Given the description of an element on the screen output the (x, y) to click on. 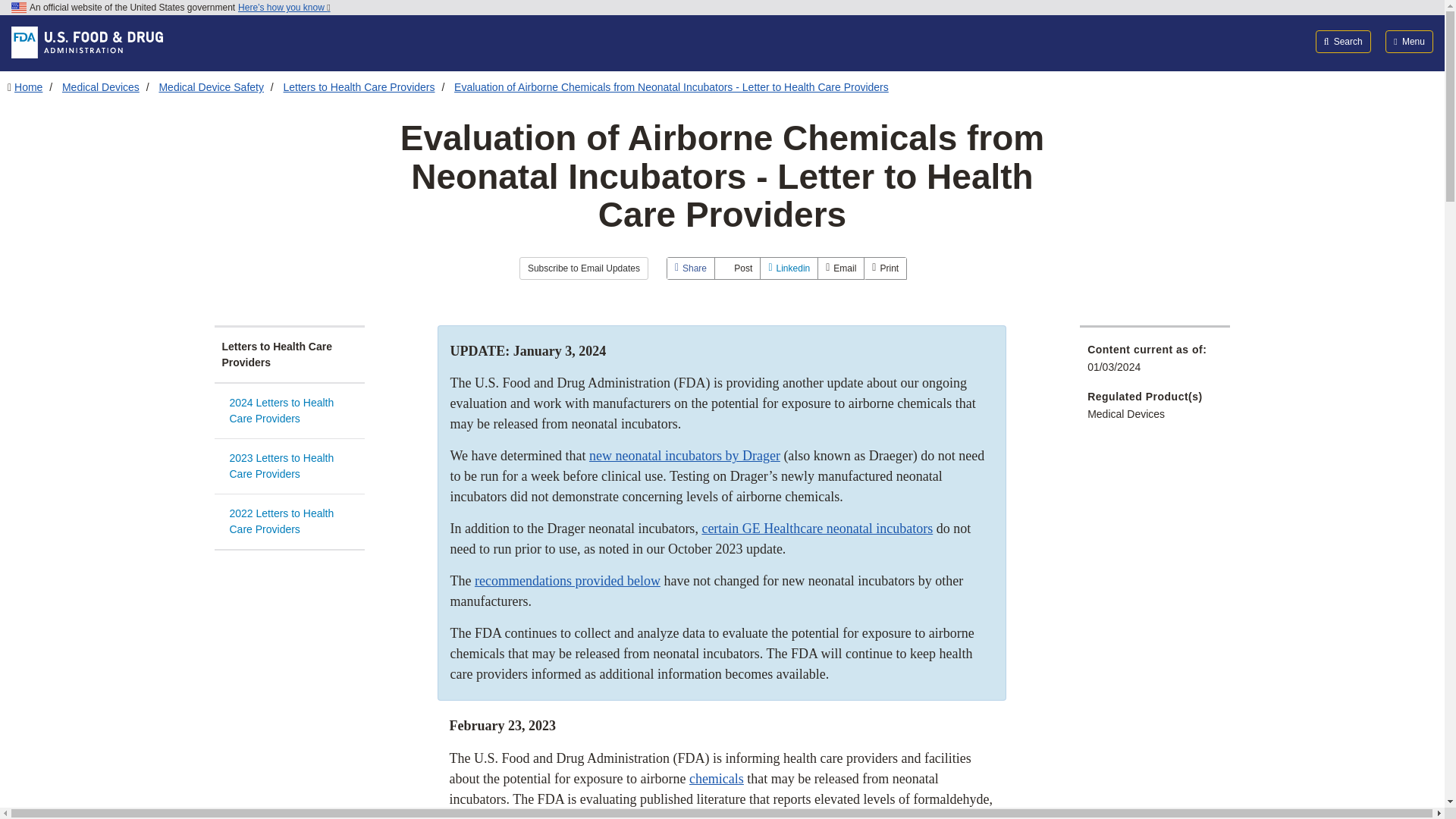
  Menu (1409, 41)
  Search (1343, 41)
Print this page (884, 268)
